Given the description of an element on the screen output the (x, y) to click on. 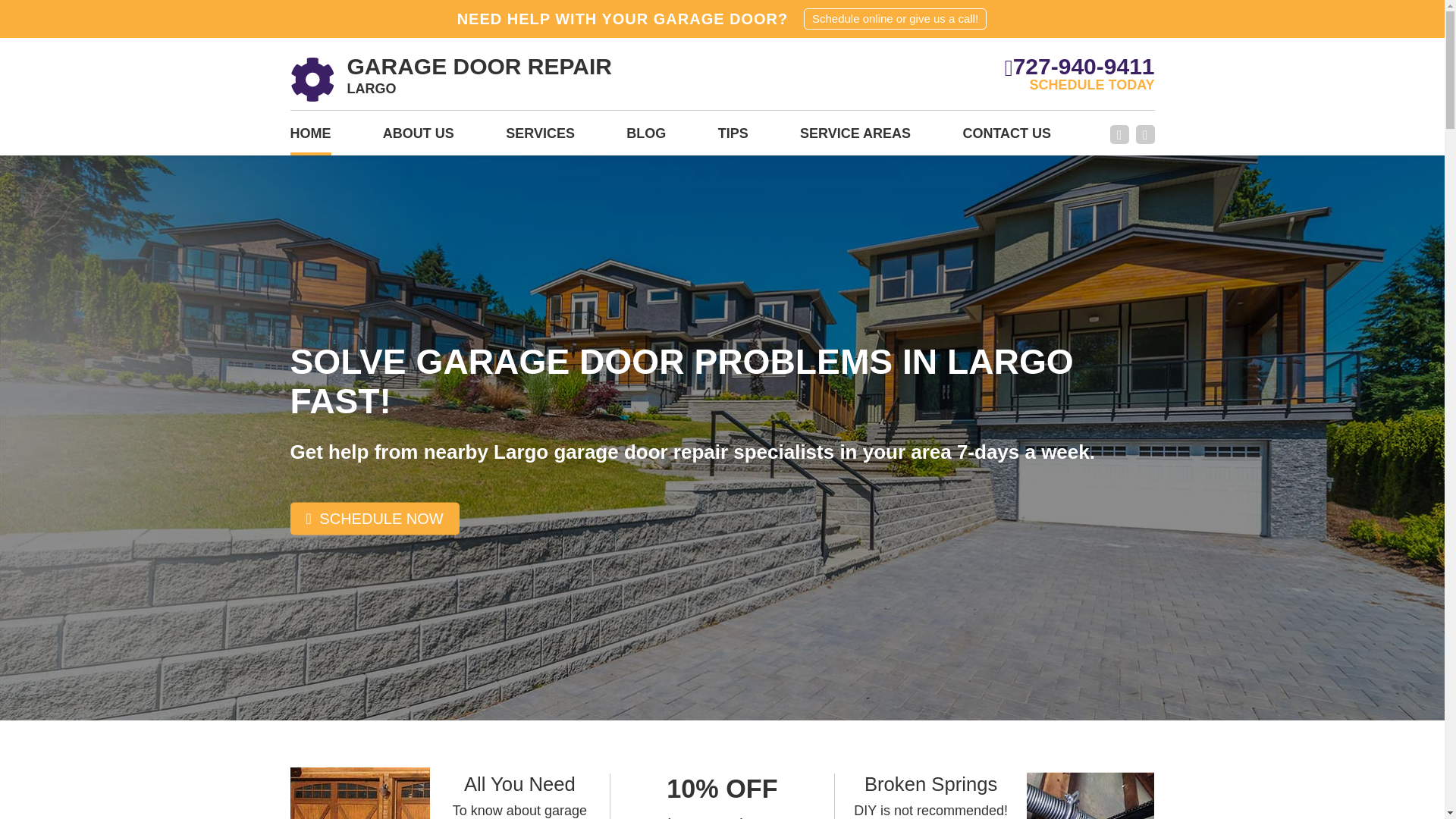
SERVICE AREAS (450, 79)
CONTACT US (855, 138)
Door Springs Near Largo, FL (1006, 138)
ABOUT US (1090, 796)
YouTube (418, 138)
BLOG (1144, 134)
Schedule online or give us a call! (645, 138)
Facebook (895, 18)
HOME (1119, 134)
SERVICES (309, 138)
TIPS (540, 138)
Garage Door Repair Largo (732, 138)
Garage Door Repair Largo (450, 79)
